Given the description of an element on the screen output the (x, y) to click on. 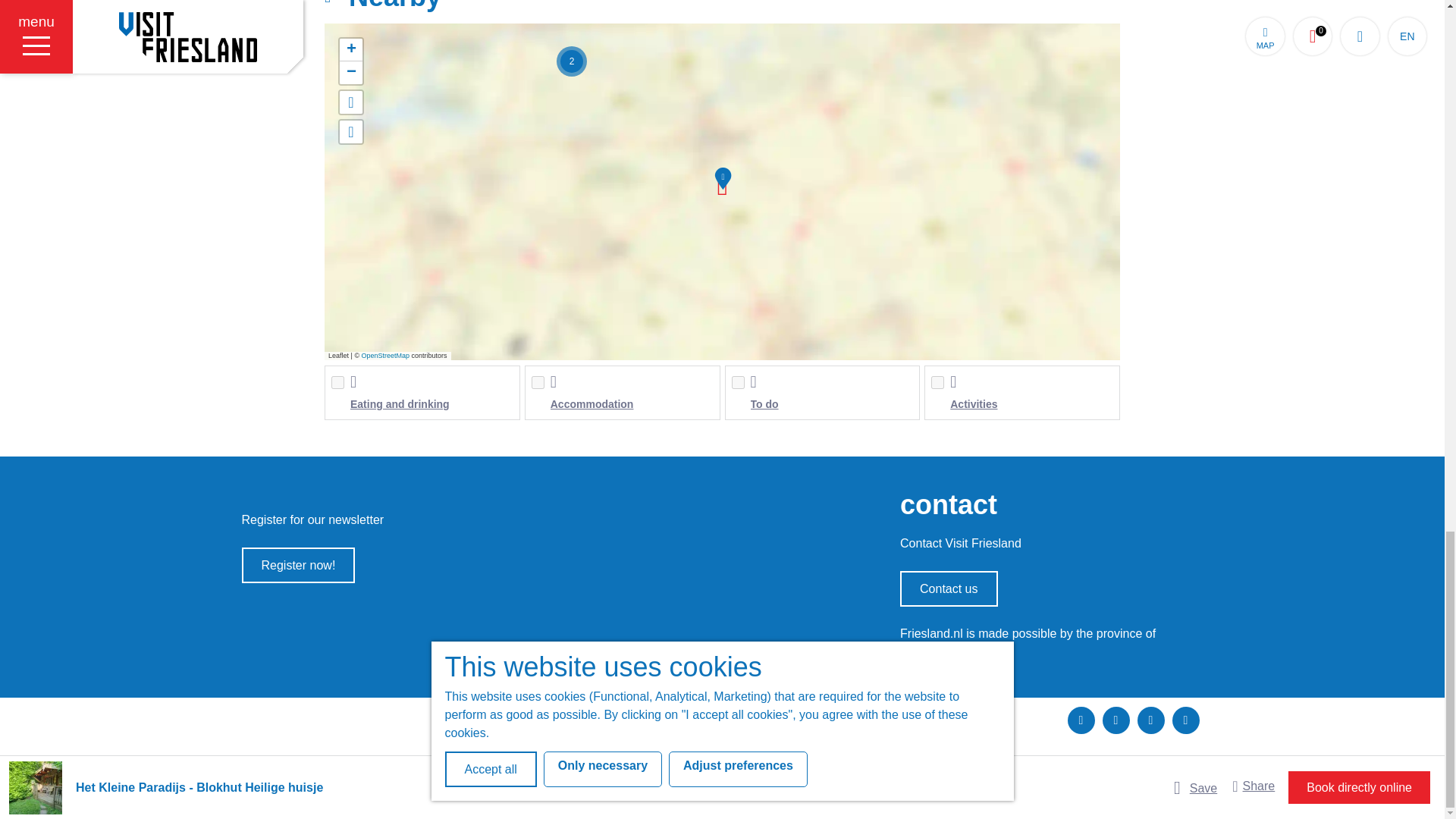
10700,11100,10900,10400,10800 (737, 382)
20100,20200,20400,40300 (937, 382)
